Given the description of an element on the screen output the (x, y) to click on. 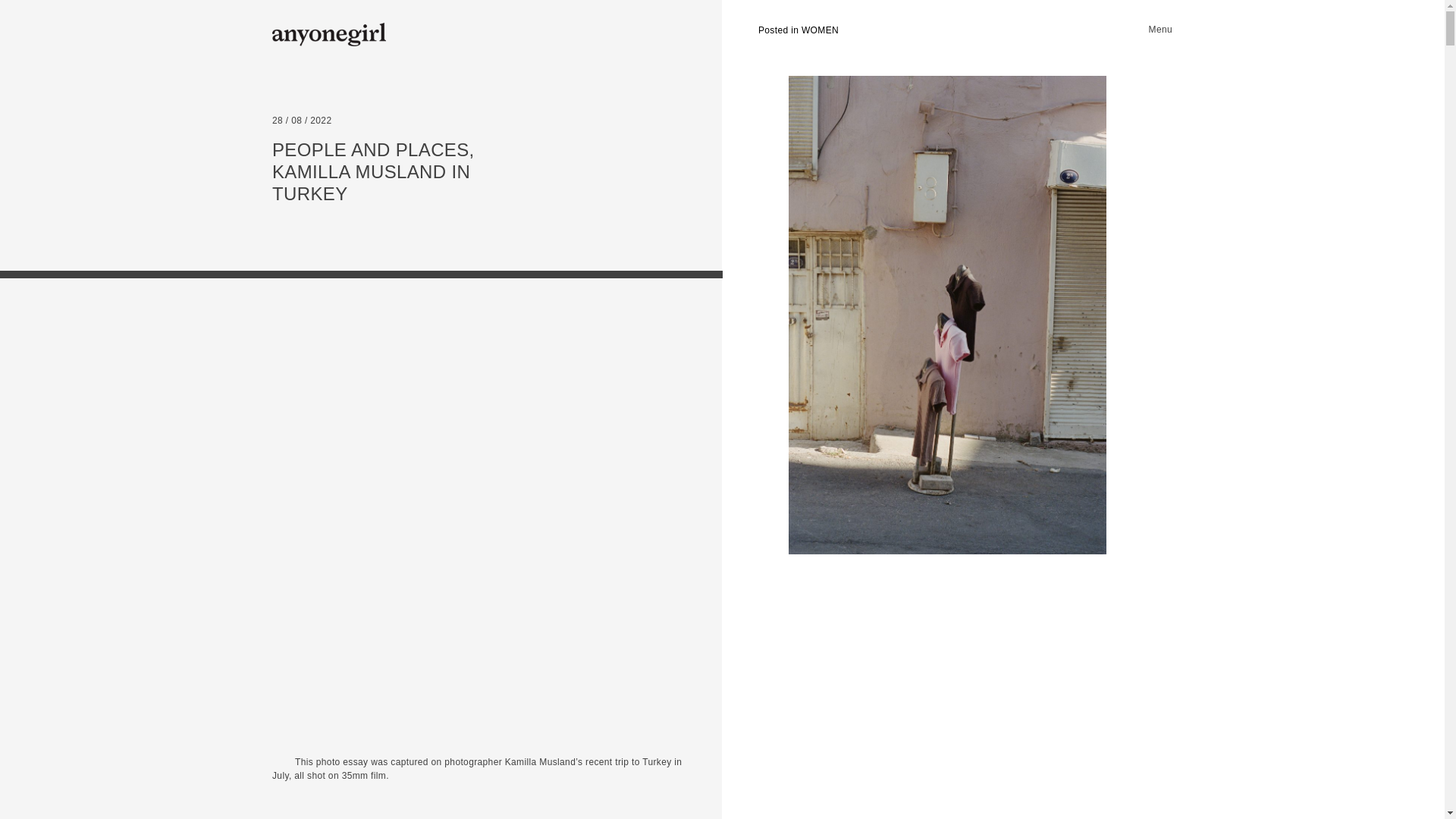
Posted in WOMEN (798, 29)
View all posts in Women (798, 29)
